Given the description of an element on the screen output the (x, y) to click on. 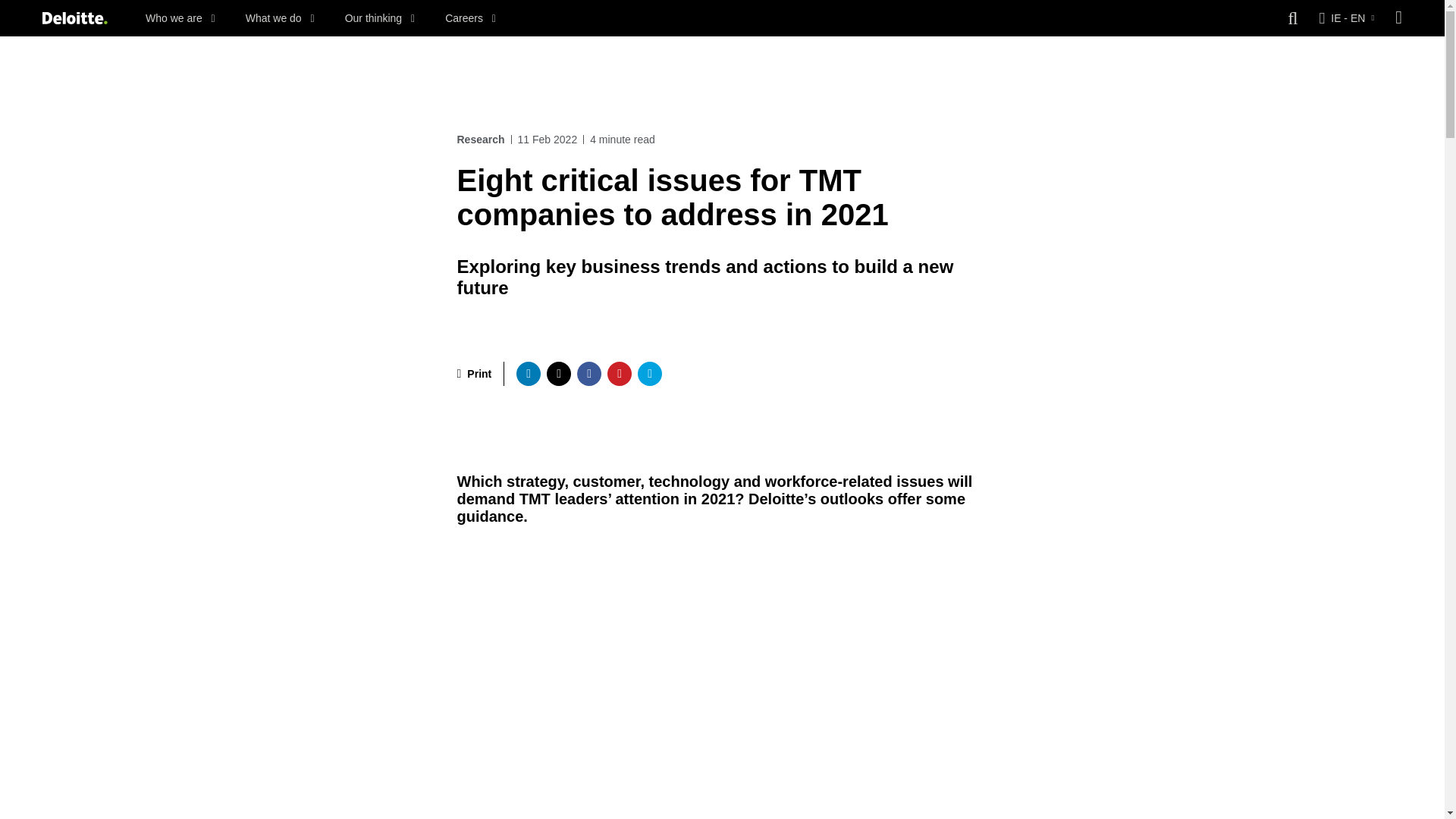
Our thinking (379, 18)
Who we are (180, 18)
Print (474, 373)
What we do (280, 18)
Deloitte (74, 18)
share via... (528, 373)
Careers (470, 18)
share via... (649, 373)
share via... (588, 373)
share via... (619, 373)
share via... (558, 373)
